Given the description of an element on the screen output the (x, y) to click on. 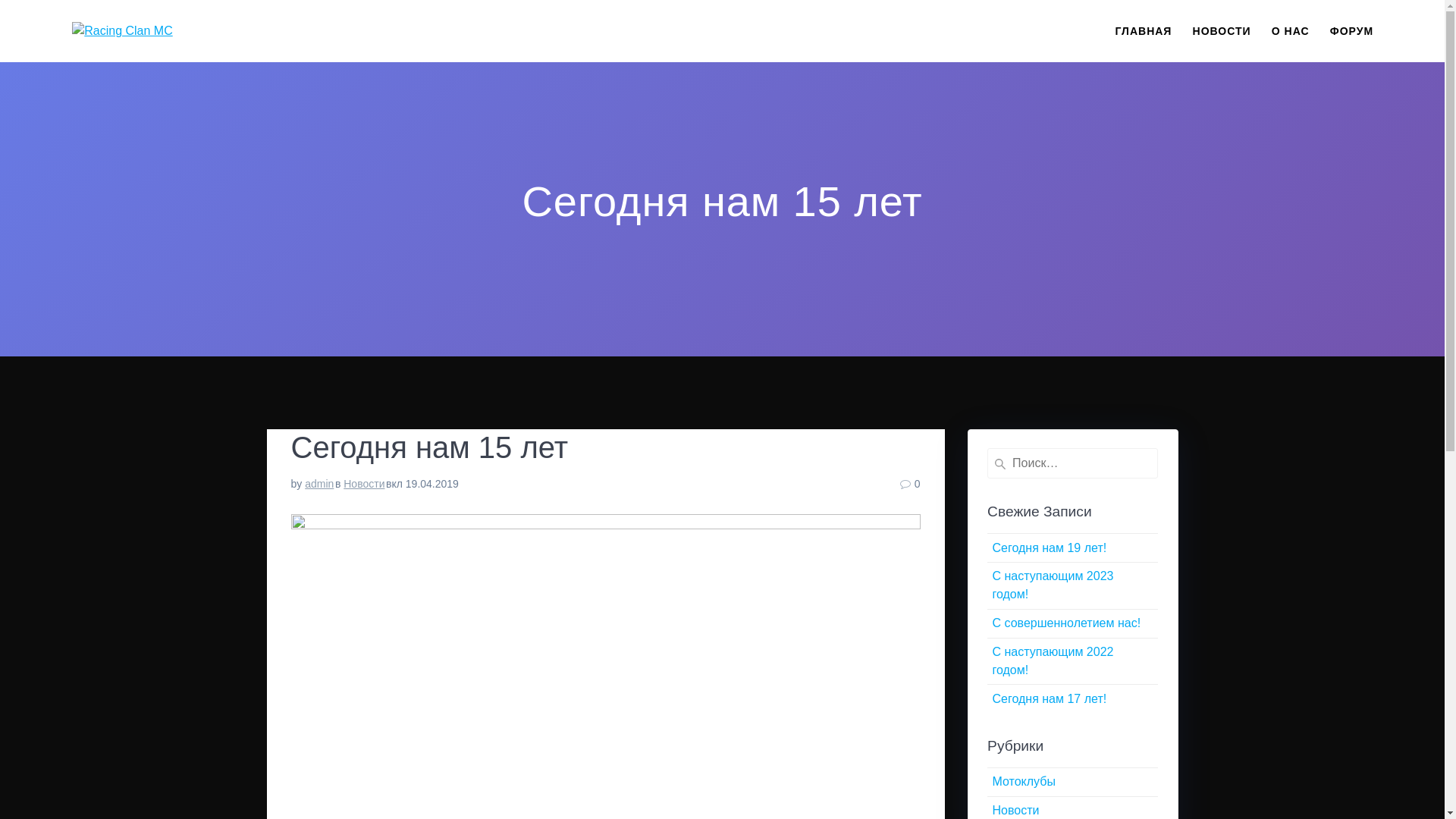
admin Element type: text (318, 483)
